Given the description of an element on the screen output the (x, y) to click on. 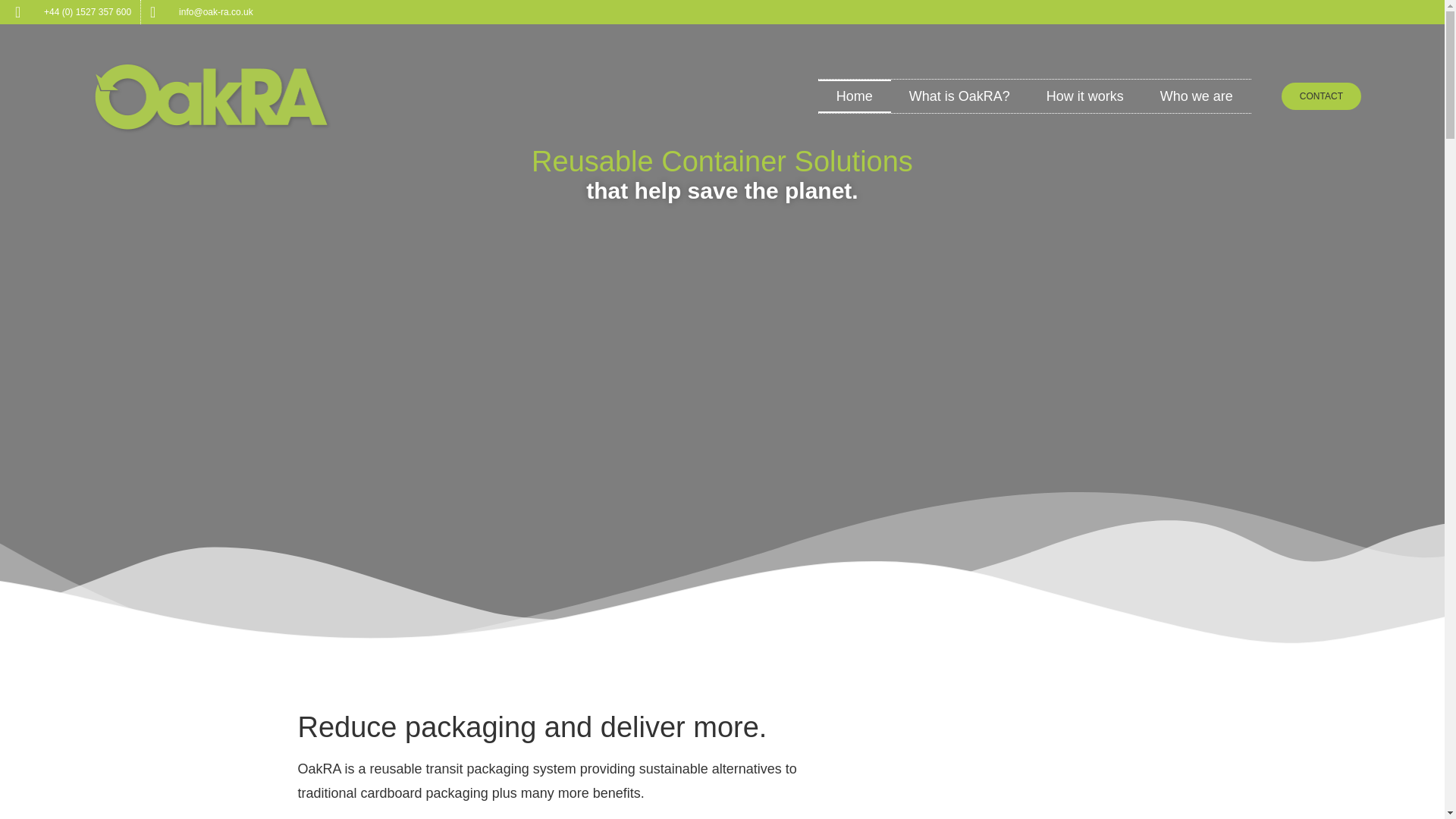
Home (854, 96)
How it works (1084, 96)
What is OakRA? (959, 96)
CONTACT (1321, 95)
Who we are (1195, 96)
